Given the description of an element on the screen output the (x, y) to click on. 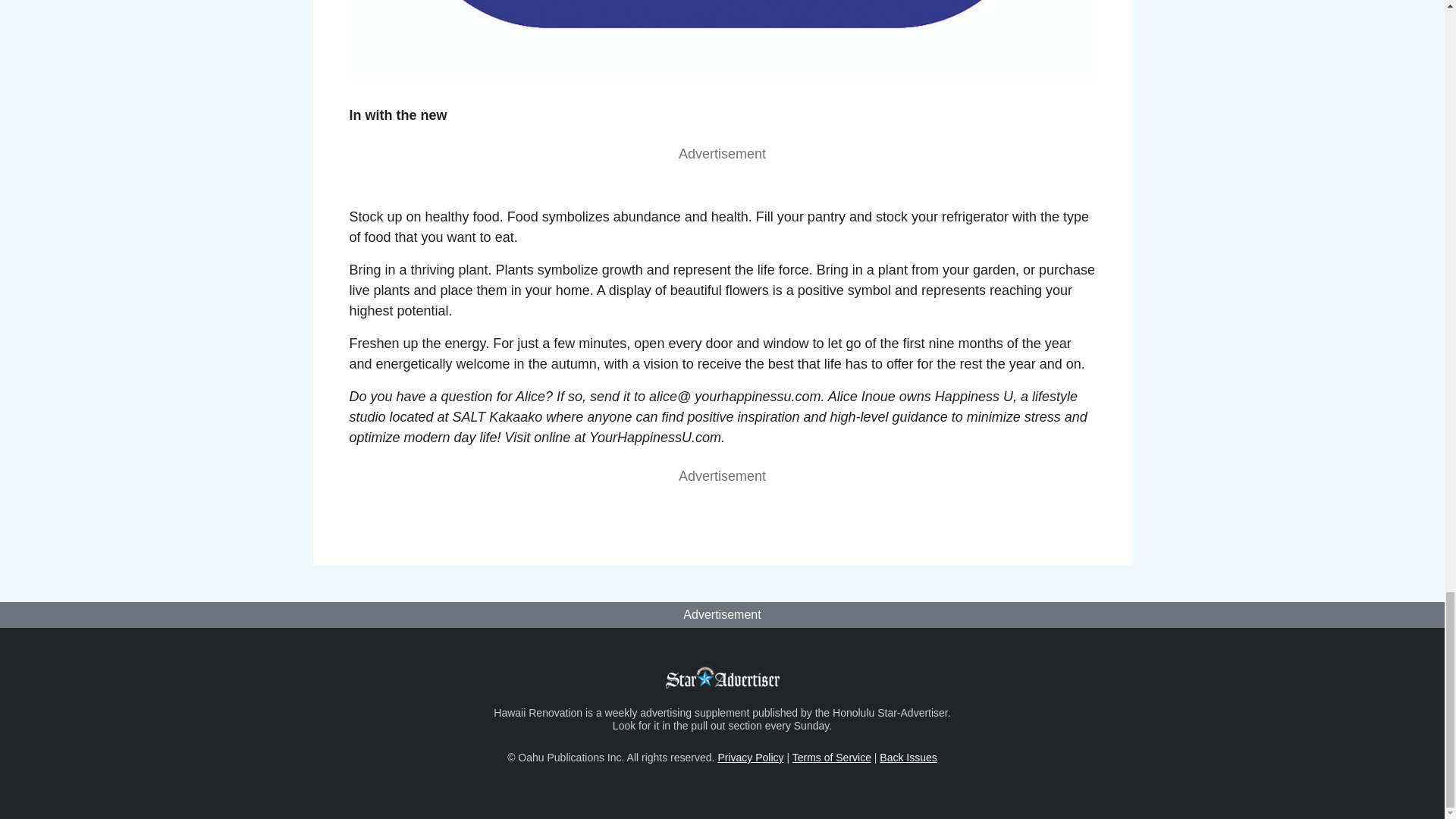
Terms of Service (831, 757)
Back Issues (907, 757)
Privacy Policy (750, 757)
